Given the description of an element on the screen output the (x, y) to click on. 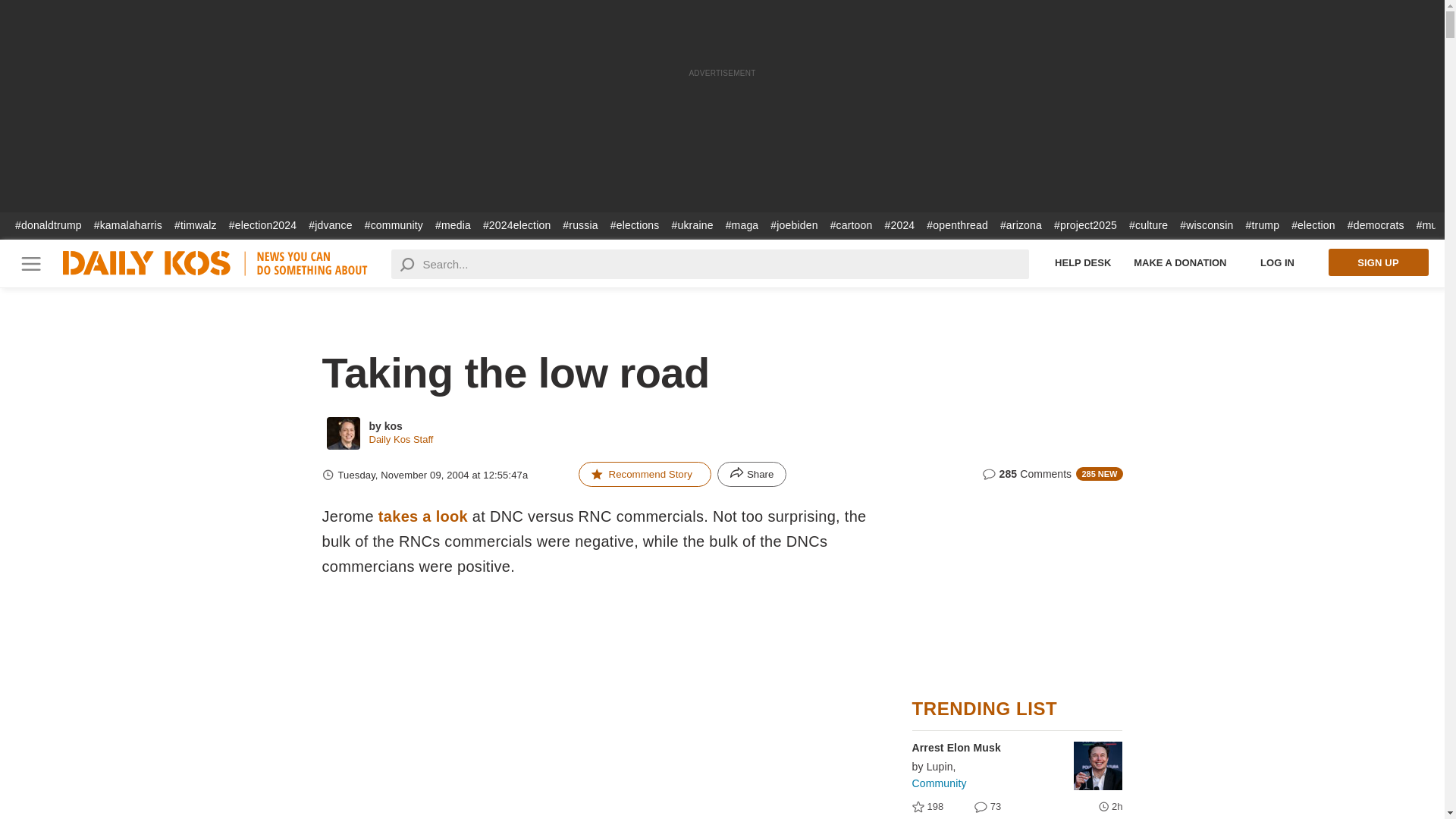
Help Desk (1082, 262)
MAKE A DONATION (1179, 262)
Make a Donation (1179, 262)
